Given the description of an element on the screen output the (x, y) to click on. 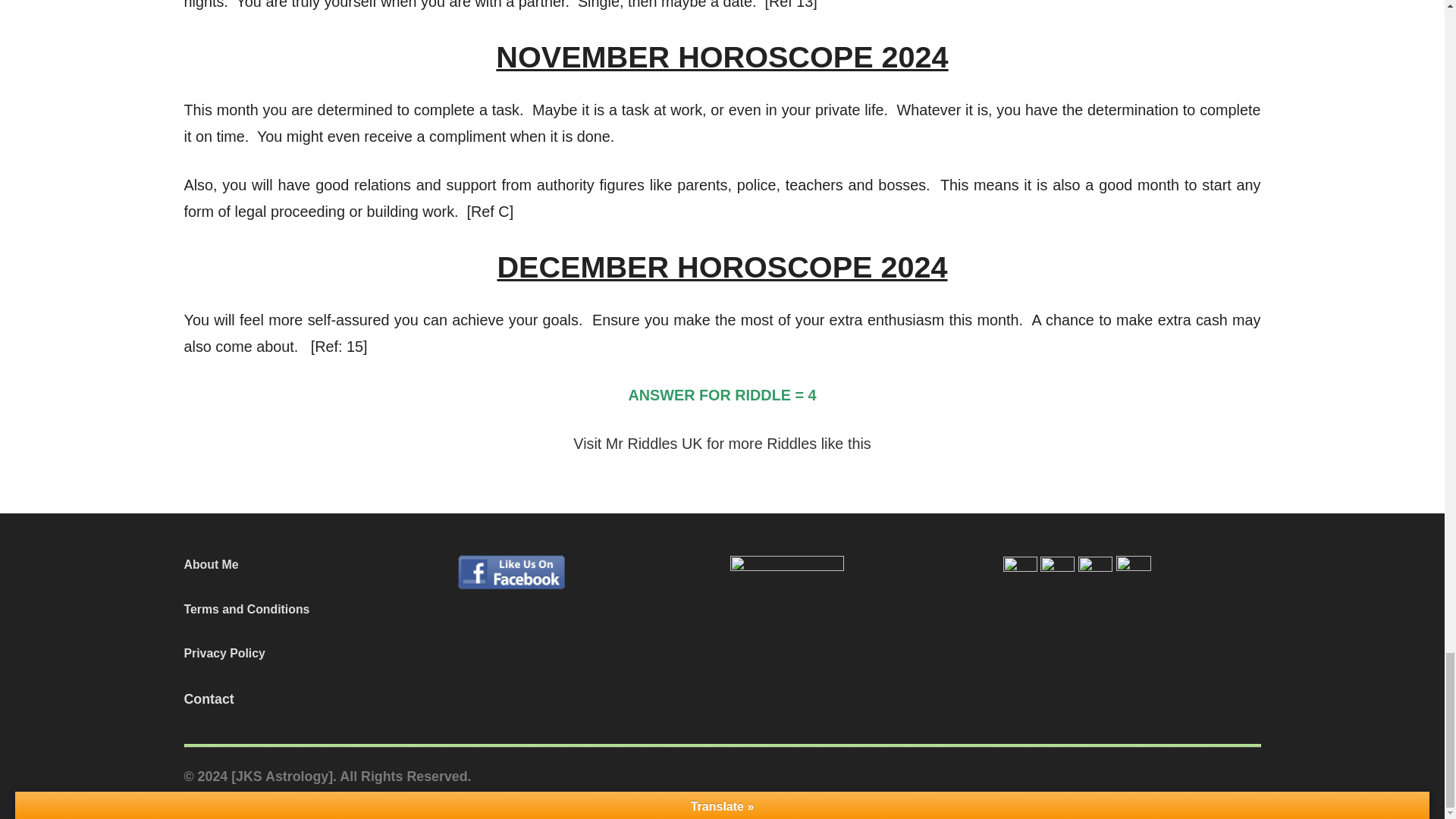
Visit Mr Riddles UK for more Riddles like this (721, 443)
Privacy Policy (223, 653)
About Me (210, 563)
Terms and Conditions (245, 608)
Contact (207, 698)
